Given the description of an element on the screen output the (x, y) to click on. 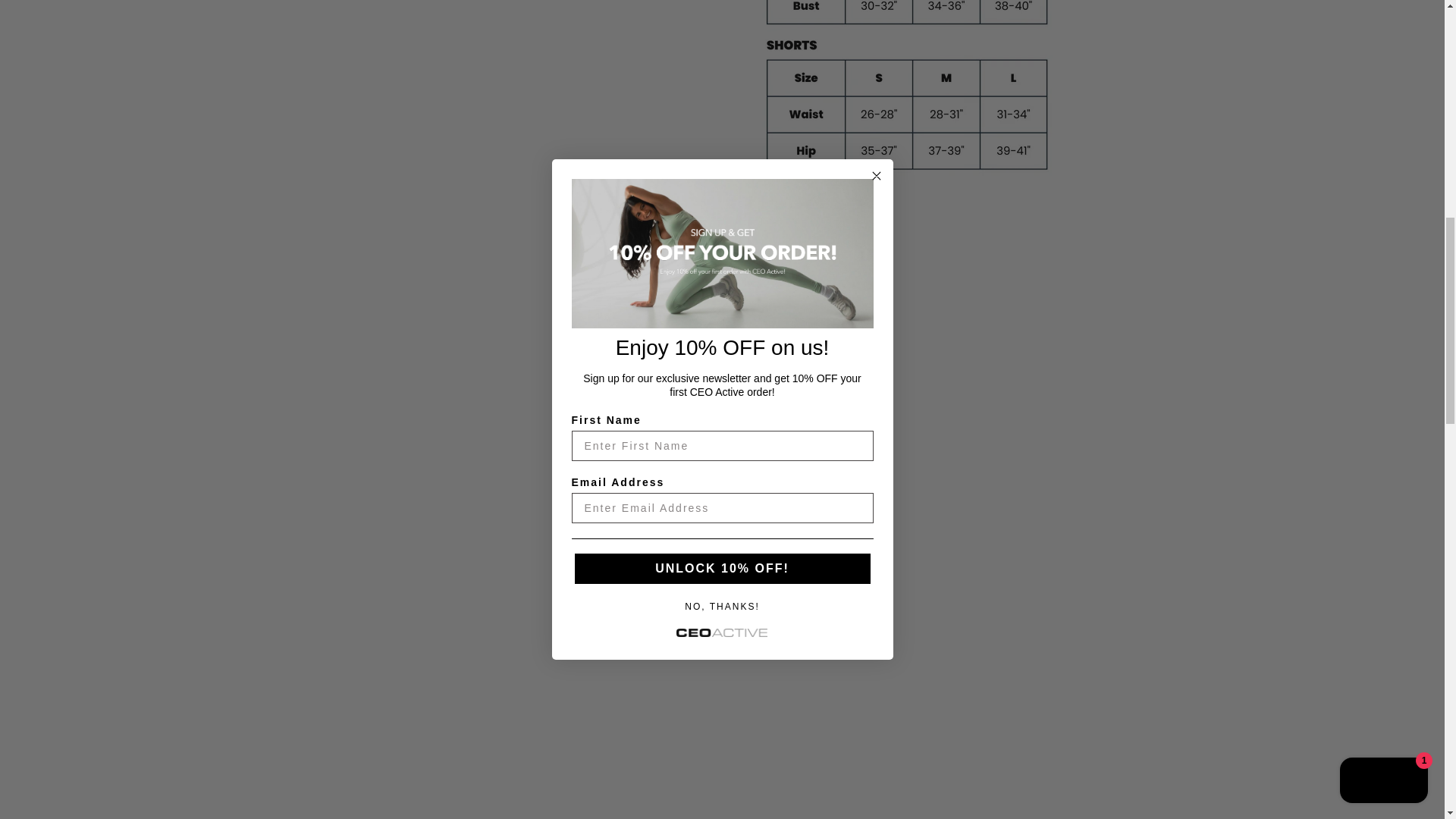
Share this on Pinterest (818, 222)
Email this to a friend (855, 222)
Share this on Twitter (743, 222)
Share this on Facebook (781, 222)
